Given the description of an element on the screen output the (x, y) to click on. 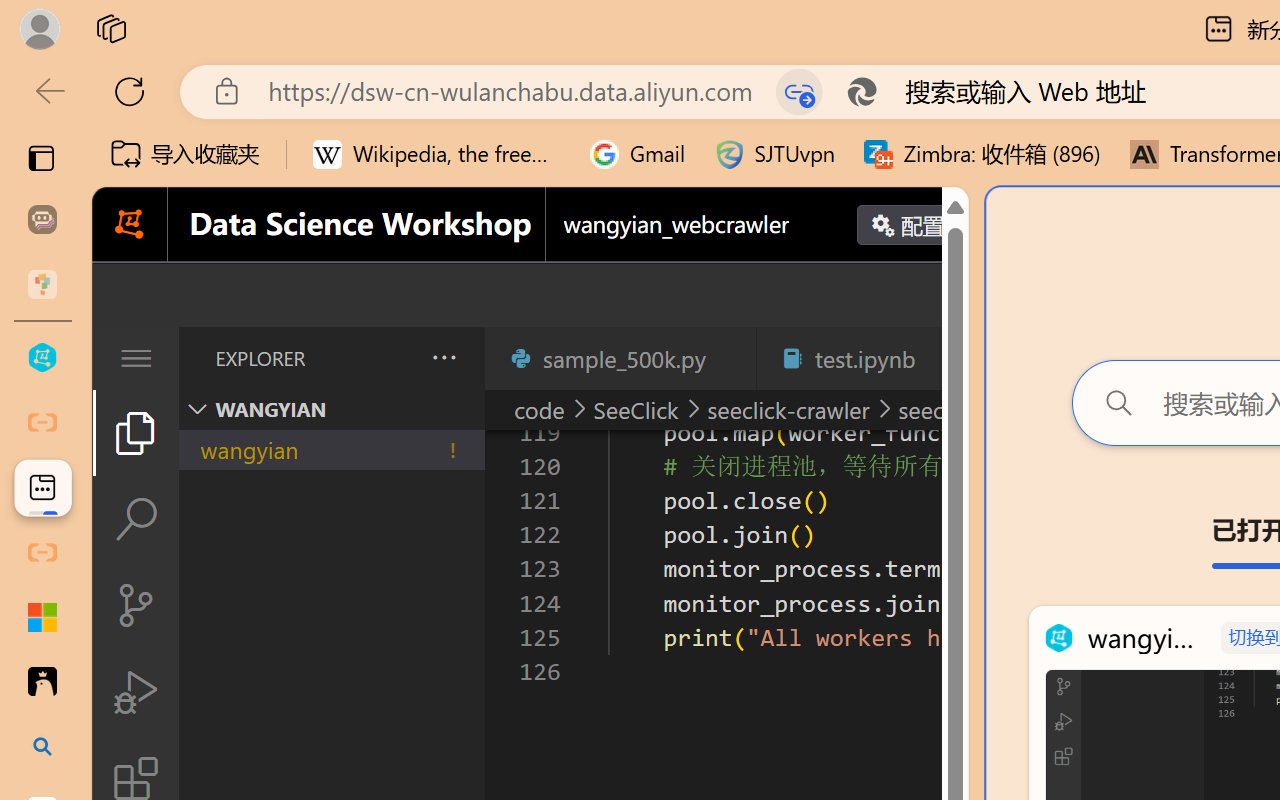
Class: menubar compact overflow-menu-only (135, 358)
Wikipedia, the free encyclopedia (437, 154)
Views and More Actions... (442, 357)
Application Menu (135, 358)
SJTUvpn (774, 154)
